Given the description of an element on the screen output the (x, y) to click on. 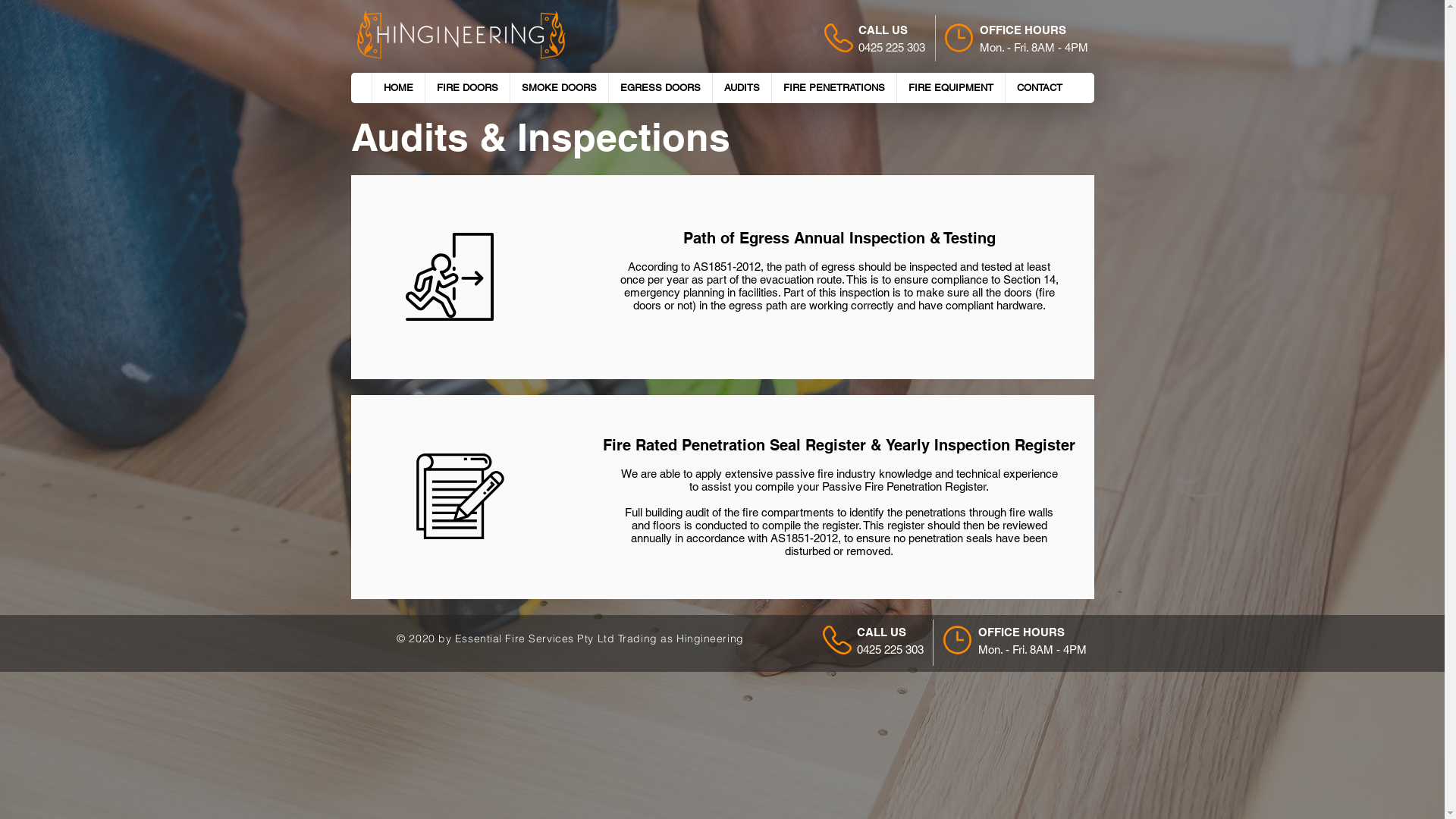
FIRE EQUIPMENT Element type: text (950, 87)
AUDITS Element type: text (740, 87)
FIRE PENETRATIONS Element type: text (832, 87)
0425 225 303 Element type: text (891, 46)
CALL US Element type: text (882, 29)
SMOKE DOORS Element type: text (558, 87)
FIRE DOORS Element type: text (466, 87)
0425 225 303 Element type: text (889, 649)
CALL US Element type: text (881, 631)
EGRESS DOORS Element type: text (660, 87)
HOME Element type: text (397, 87)
CONTACT Element type: text (1038, 87)
